Given the description of an element on the screen output the (x, y) to click on. 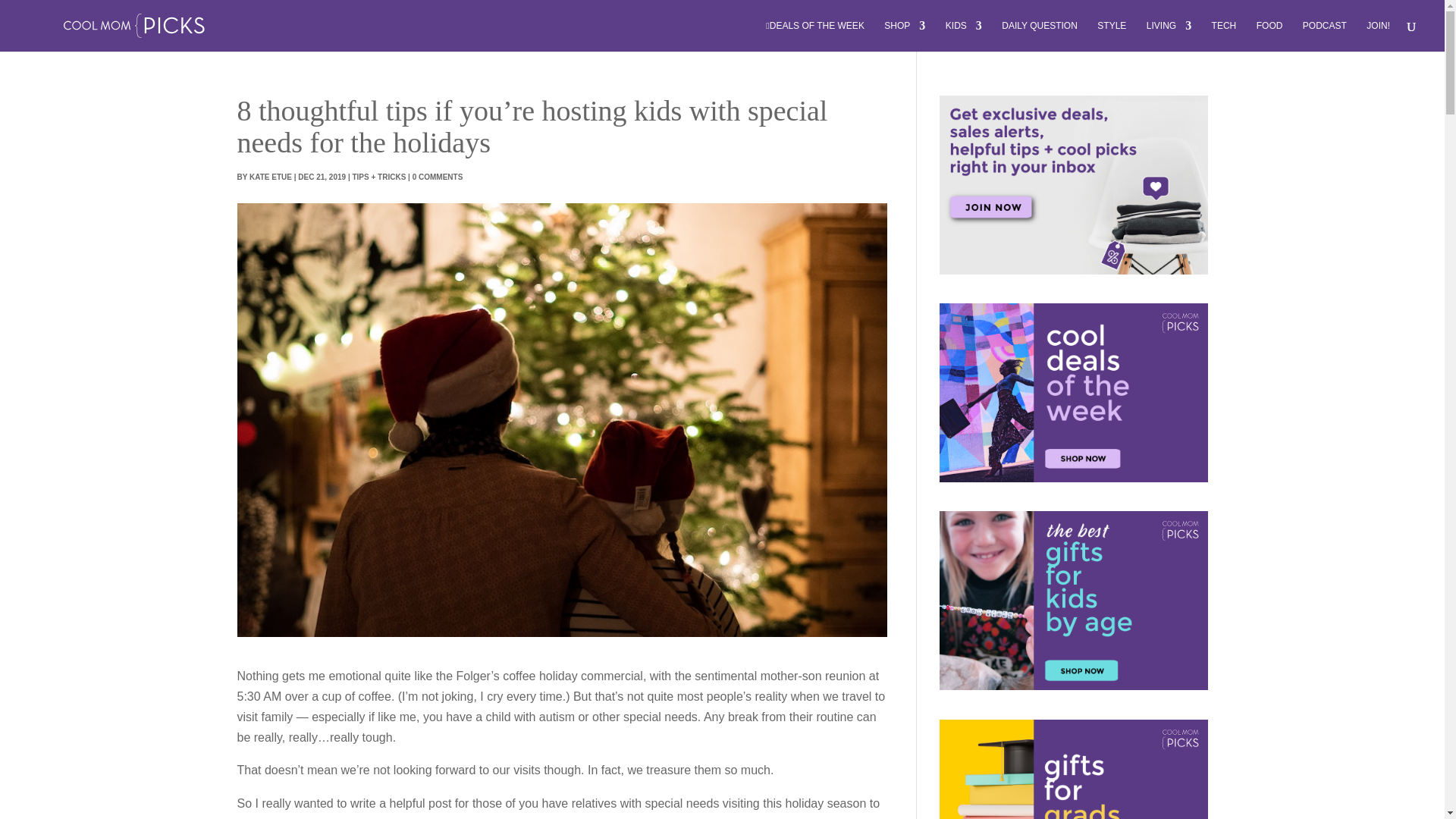
SHOP (903, 35)
Posts by Kate Etue (270, 176)
STYLE (1111, 35)
LIVING (1169, 35)
PODCAST (1324, 35)
Our Ultimate Kids Gift Guide: The Best Gifts By Age (1073, 600)
DAILY QUESTION (1039, 35)
KIDS (962, 35)
